Given the description of an element on the screen output the (x, y) to click on. 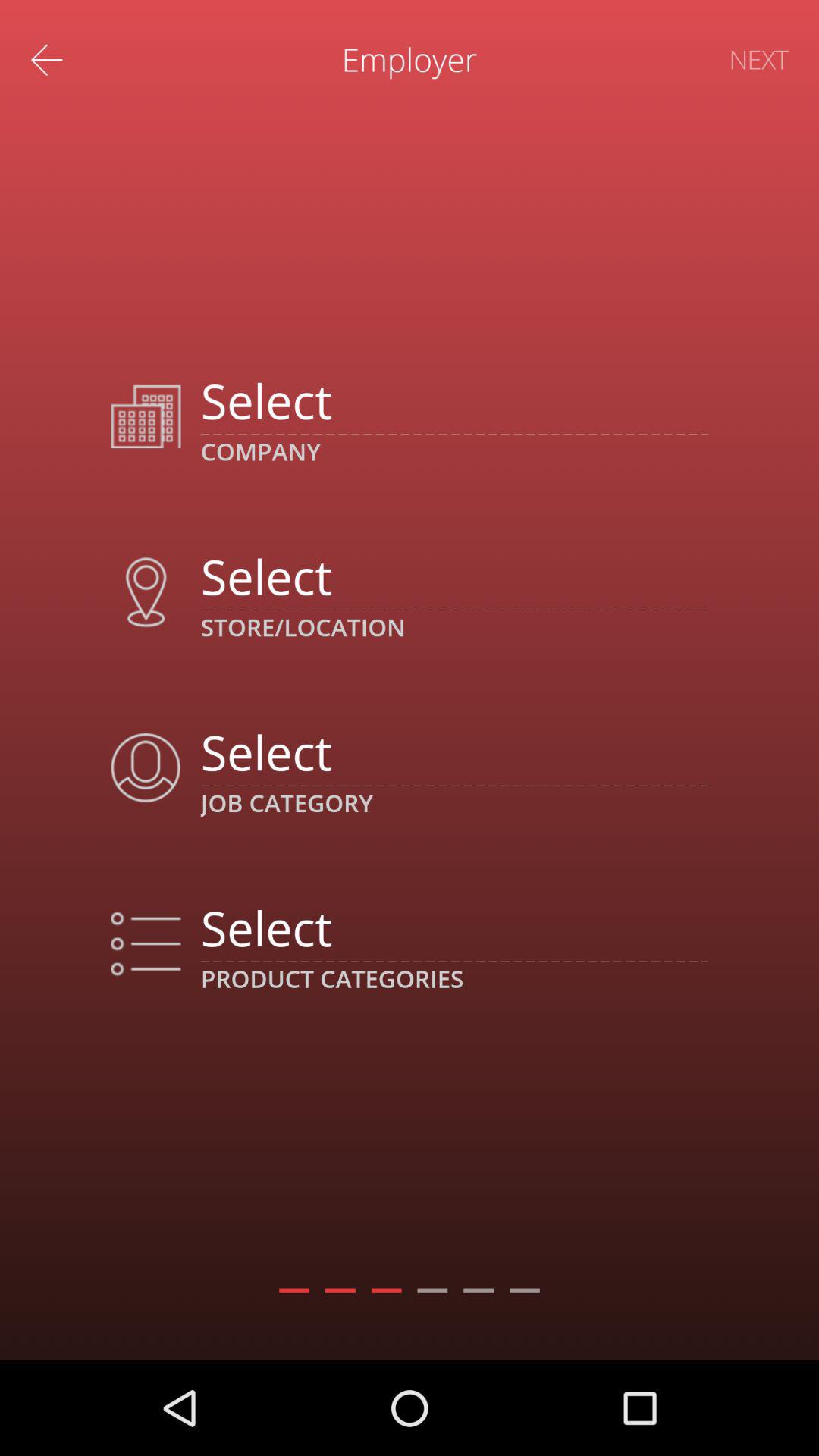
choose job category (454, 751)
